Given the description of an element on the screen output the (x, y) to click on. 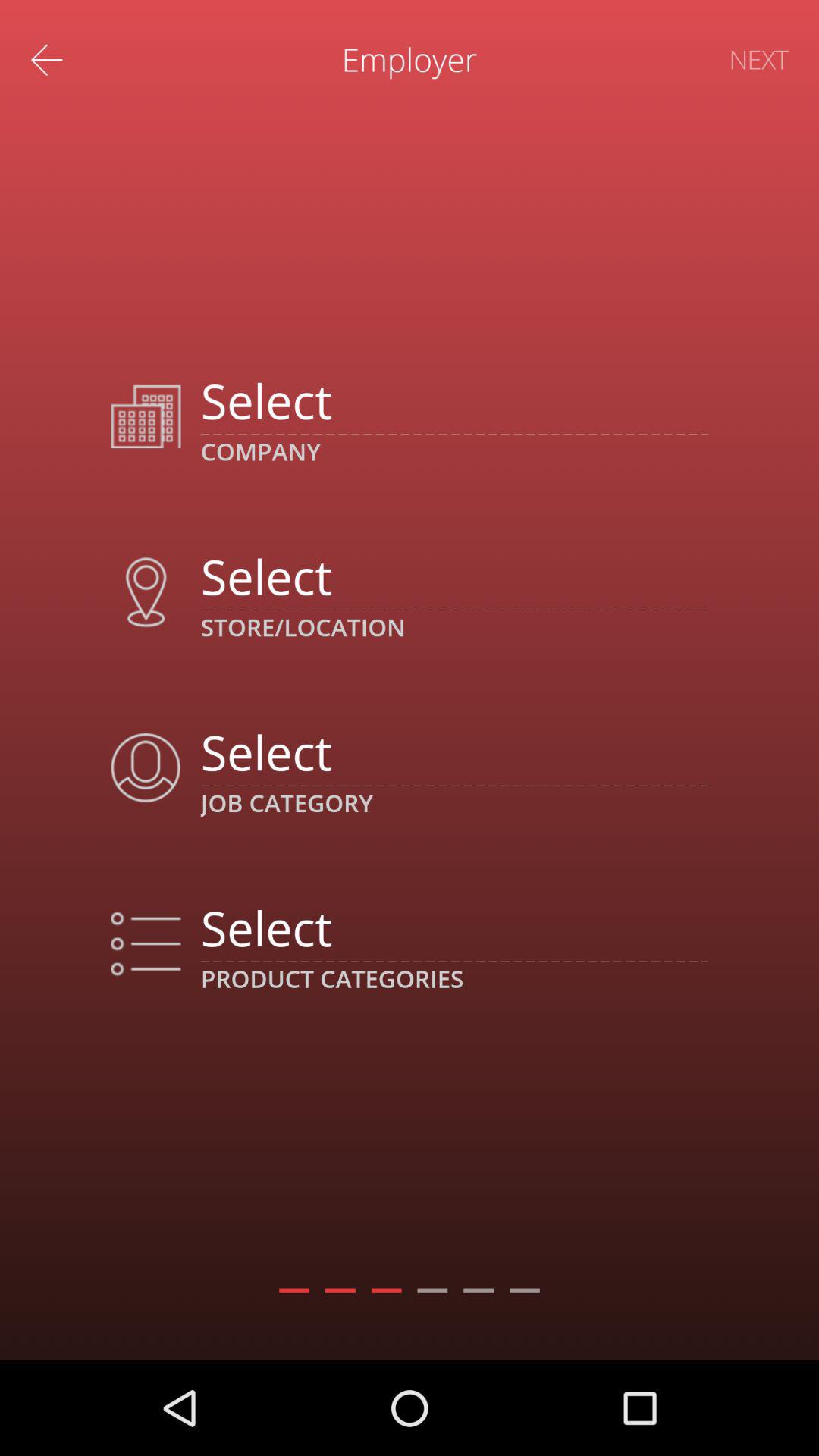
choose job category (454, 751)
